Given the description of an element on the screen output the (x, y) to click on. 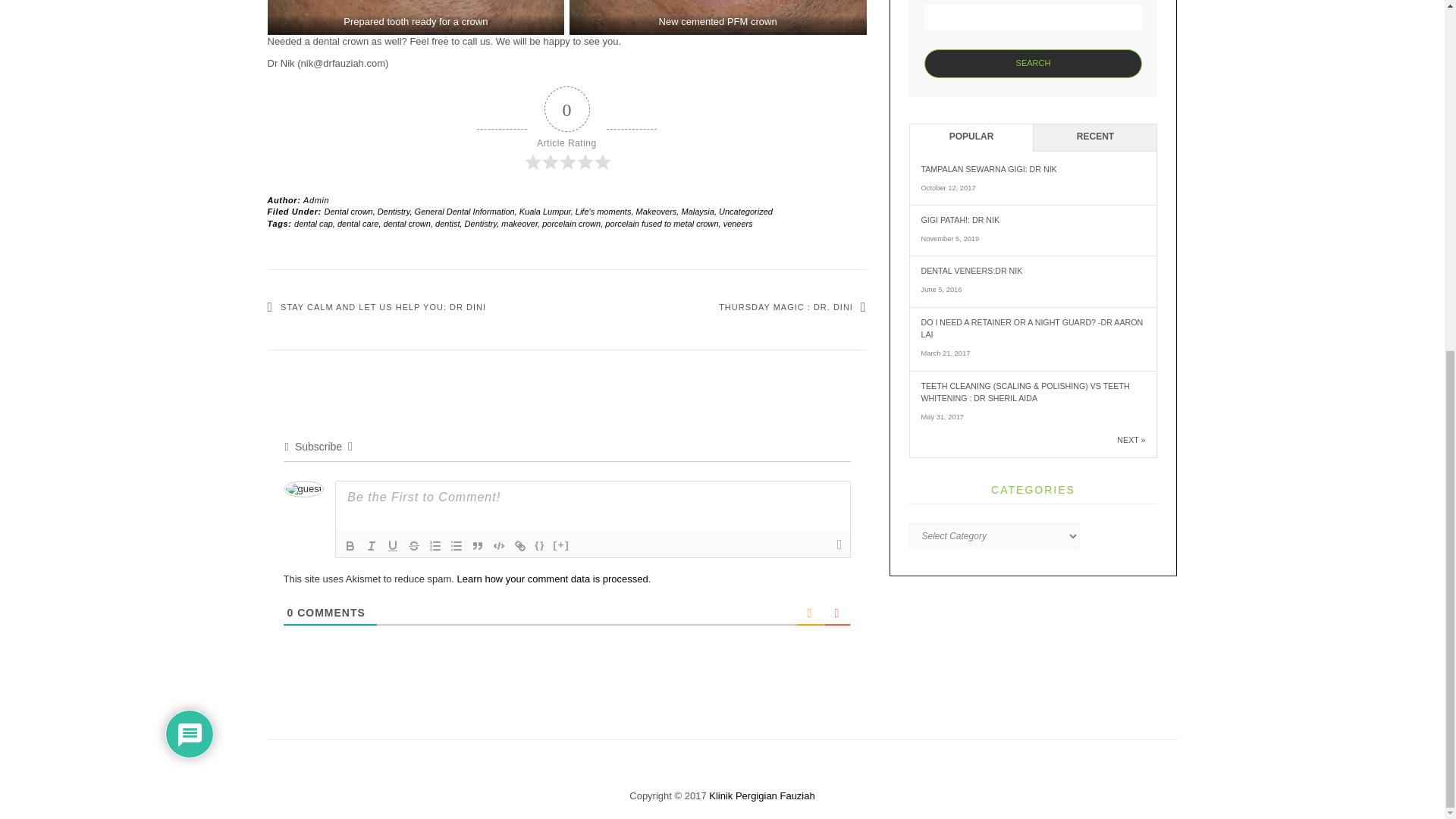
Admin (315, 199)
Dental crown (348, 211)
porcelain fused to metal crown (661, 223)
bullet (456, 546)
Strike (414, 546)
Dentistry (480, 223)
Makeovers (656, 211)
Underline (392, 546)
General Dental Information (464, 211)
veneers (737, 223)
Italic (371, 546)
Kuala Lumpur (544, 211)
makeover (518, 223)
Unordered List (456, 546)
THURSDAY MAGIC : DR. DINI (792, 307)
